Given the description of an element on the screen output the (x, y) to click on. 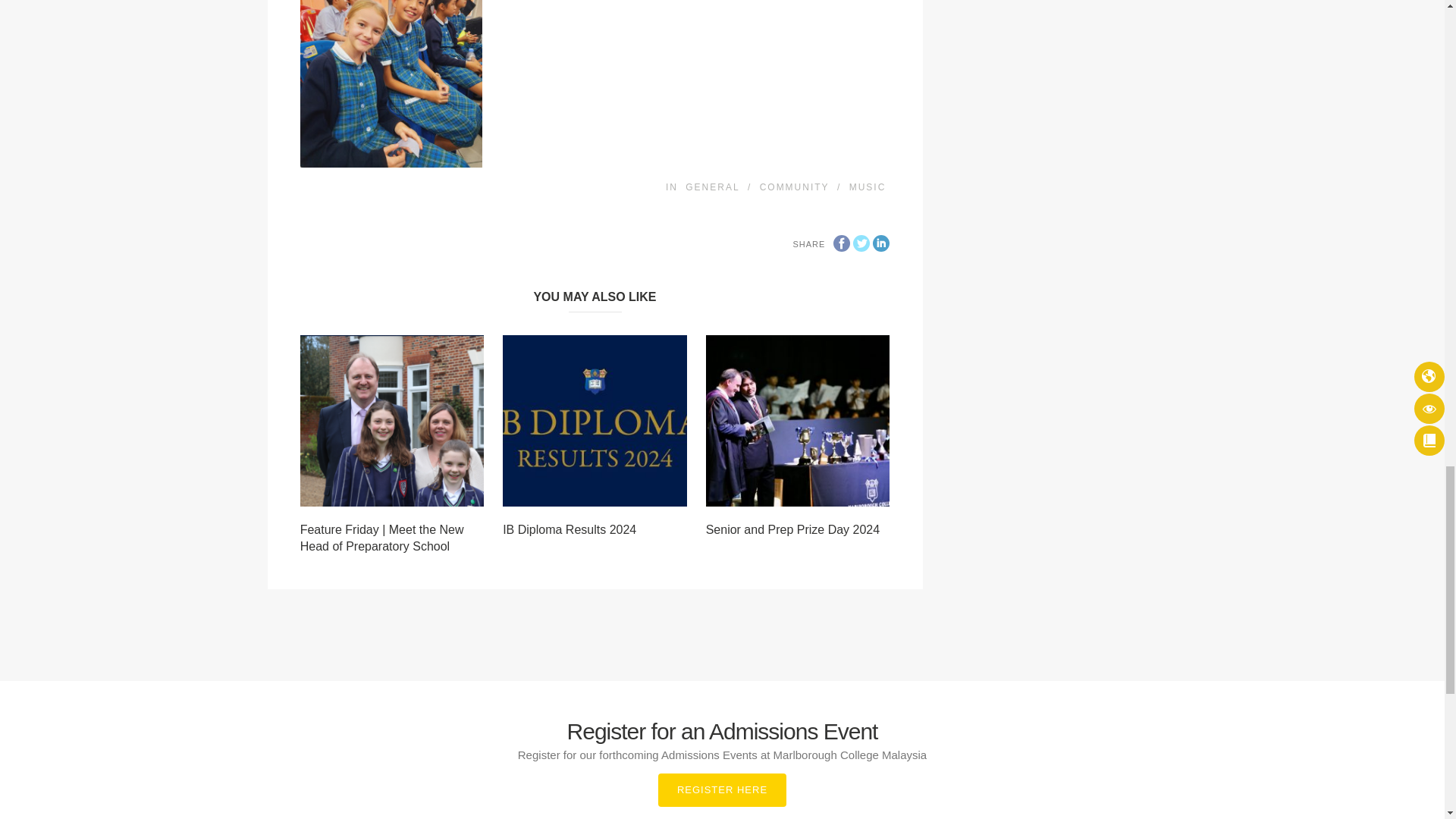
Facebook (841, 243)
LinkedIn (880, 243)
Twitter (861, 243)
